Given the description of an element on the screen output the (x, y) to click on. 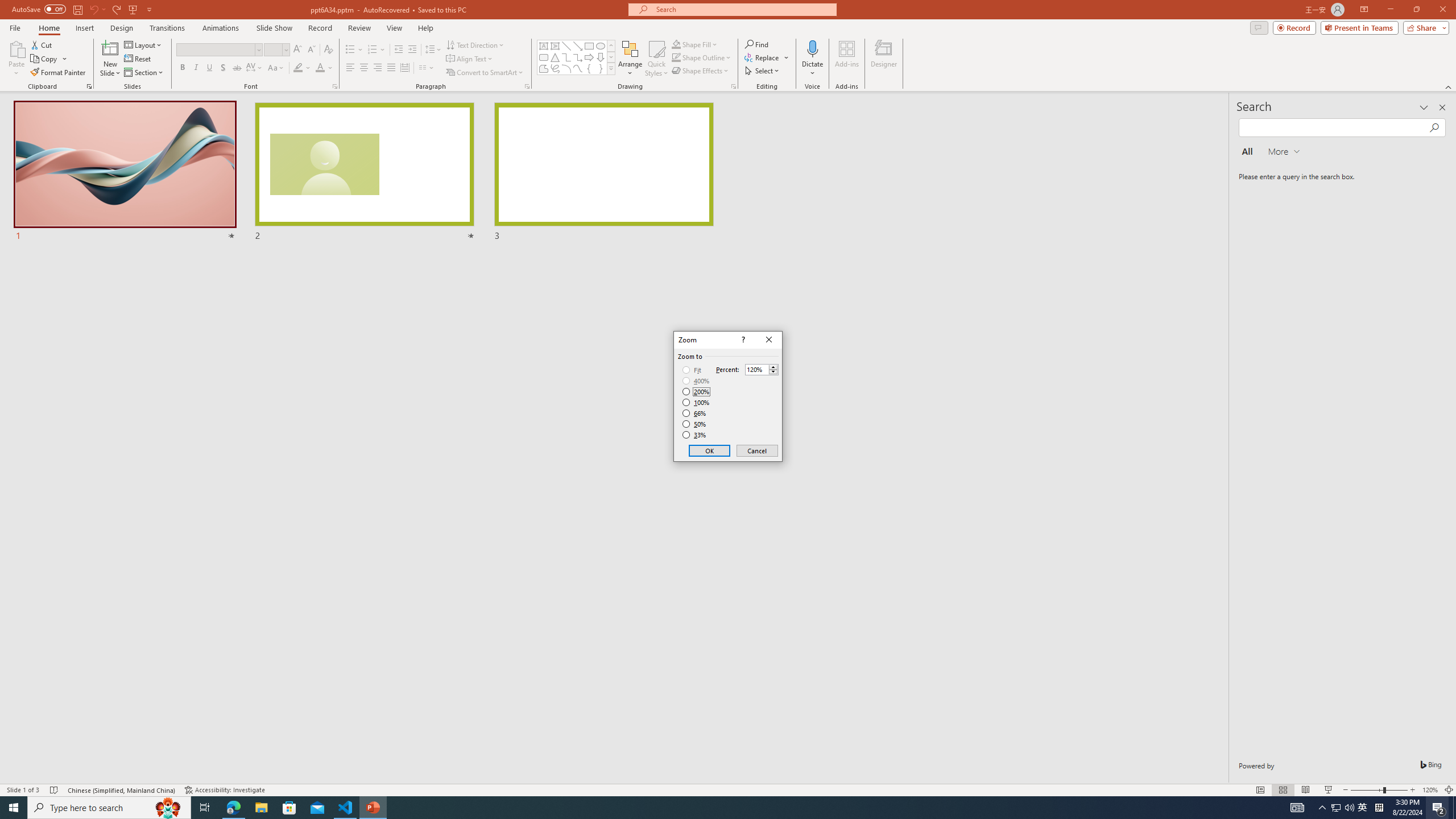
Shape Effects (700, 69)
